Given the description of an element on the screen output the (x, y) to click on. 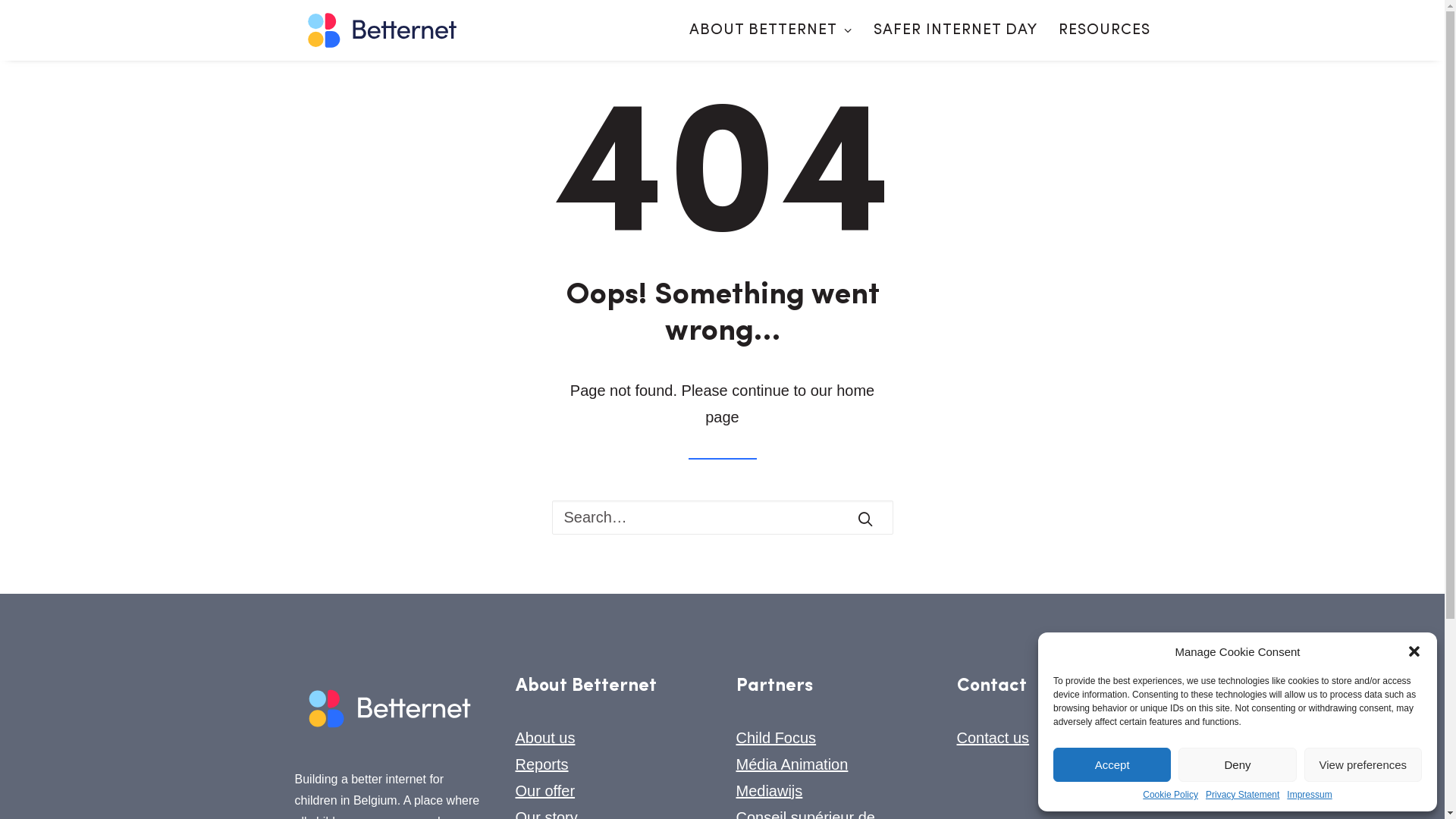
Mediawijs Element type: text (768, 790)
Cookie Policy Element type: text (1170, 794)
SAFER INTERNET DAY Element type: text (955, 30)
Accept Element type: text (1111, 764)
RESOURCES Element type: text (1099, 30)
Impressum Element type: text (1308, 794)
Deny Element type: text (1236, 764)
About us Element type: text (545, 737)
ABOUT BETTERNET Element type: text (775, 30)
Privacy Statement Element type: text (1242, 794)
View preferences Element type: text (1362, 764)
Reports Element type: text (541, 764)
home page Element type: text (789, 403)
Child Focus Element type: text (775, 737)
Search for: Element type: hover (722, 517)
Contact us Element type: text (993, 737)
Our offer Element type: text (545, 790)
